Given the description of an element on the screen output the (x, y) to click on. 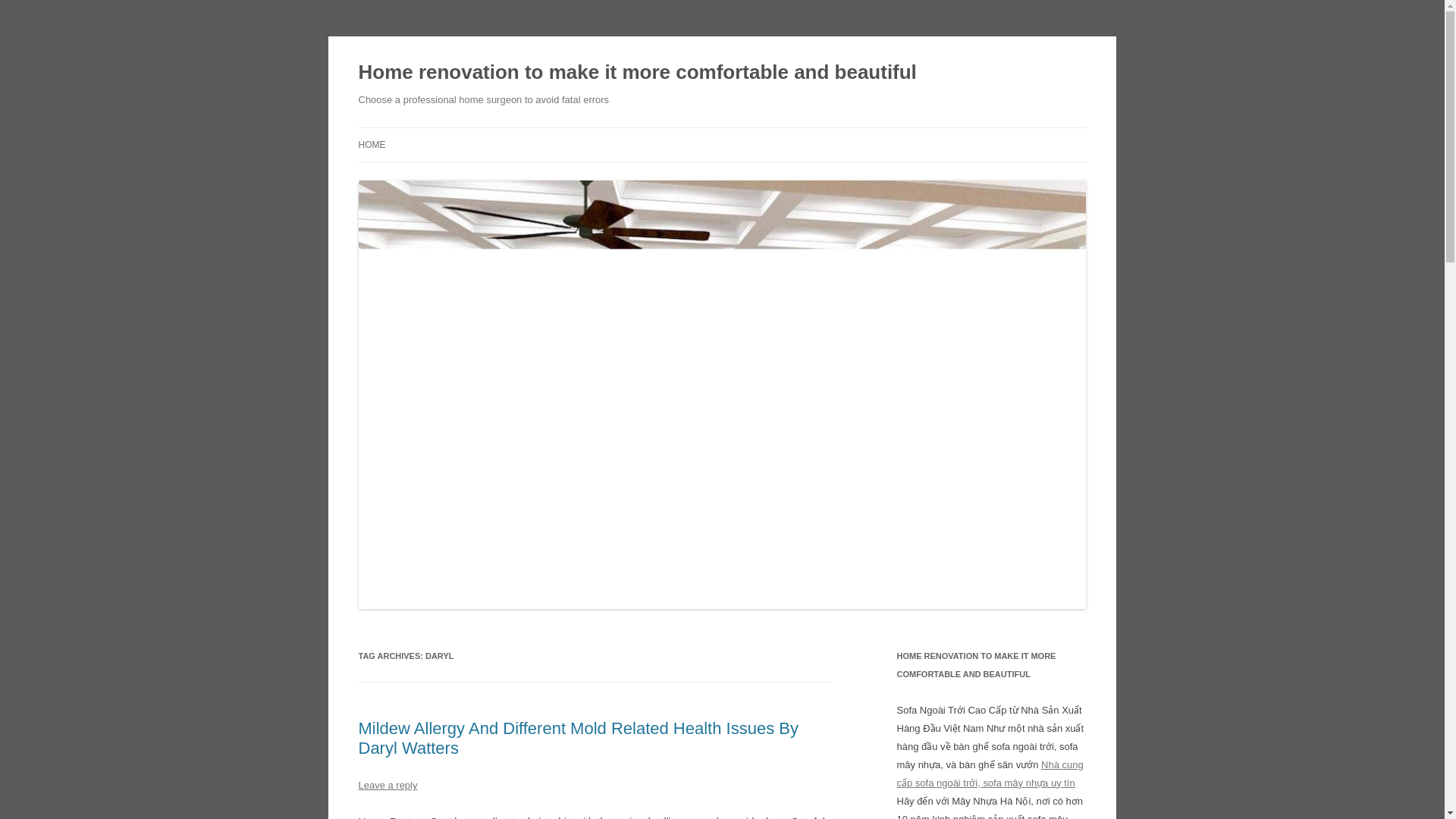
Home renovation to make it more comfortable and beautiful (636, 72)
Leave a reply (387, 785)
